Given the description of an element on the screen output the (x, y) to click on. 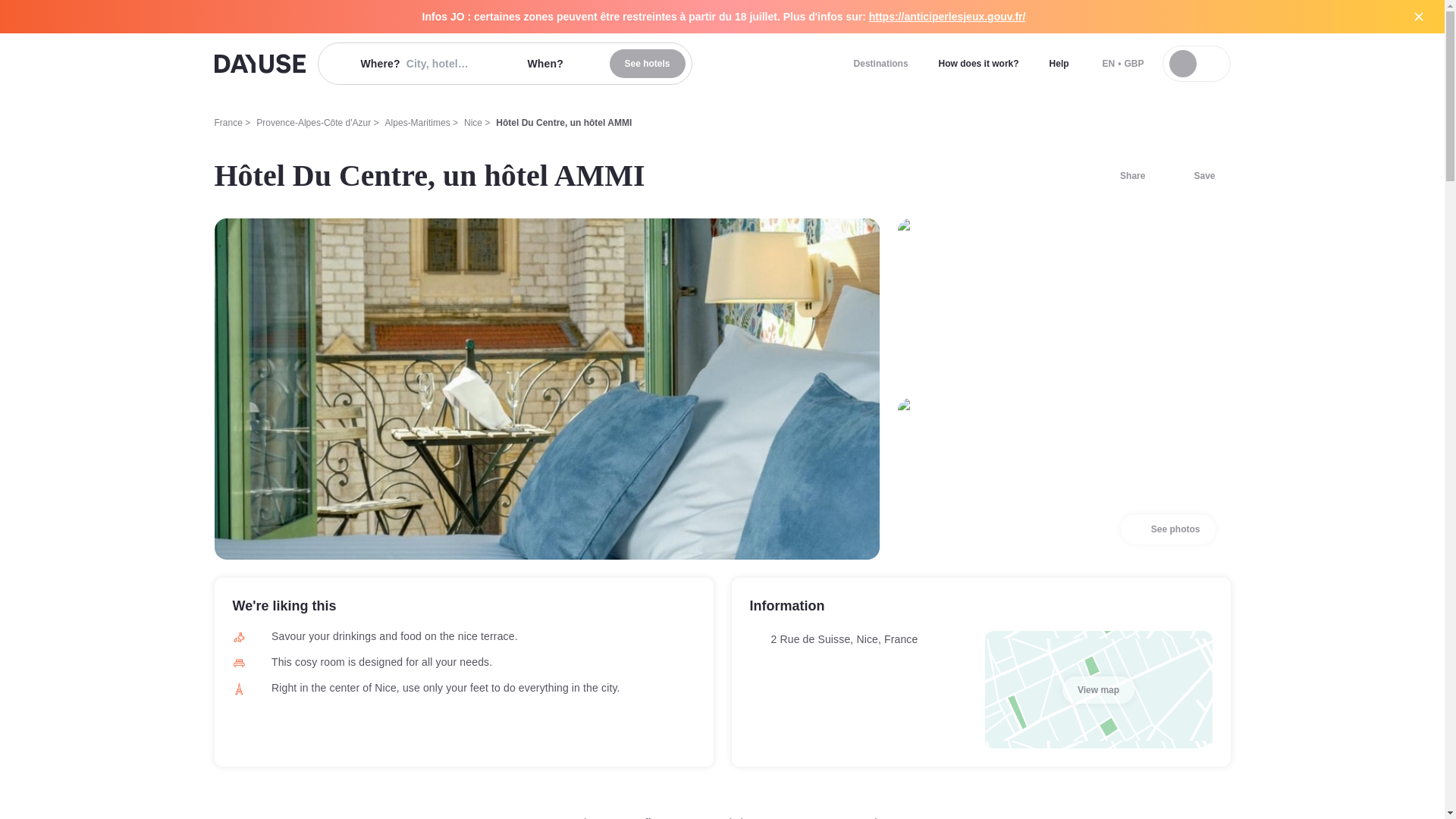
Dayuse (259, 63)
How does it work? (978, 62)
Location (868, 816)
Help (1058, 62)
See hotels (880, 62)
Save (647, 63)
FAQ (1195, 175)
View map (801, 816)
